Given the description of an element on the screen output the (x, y) to click on. 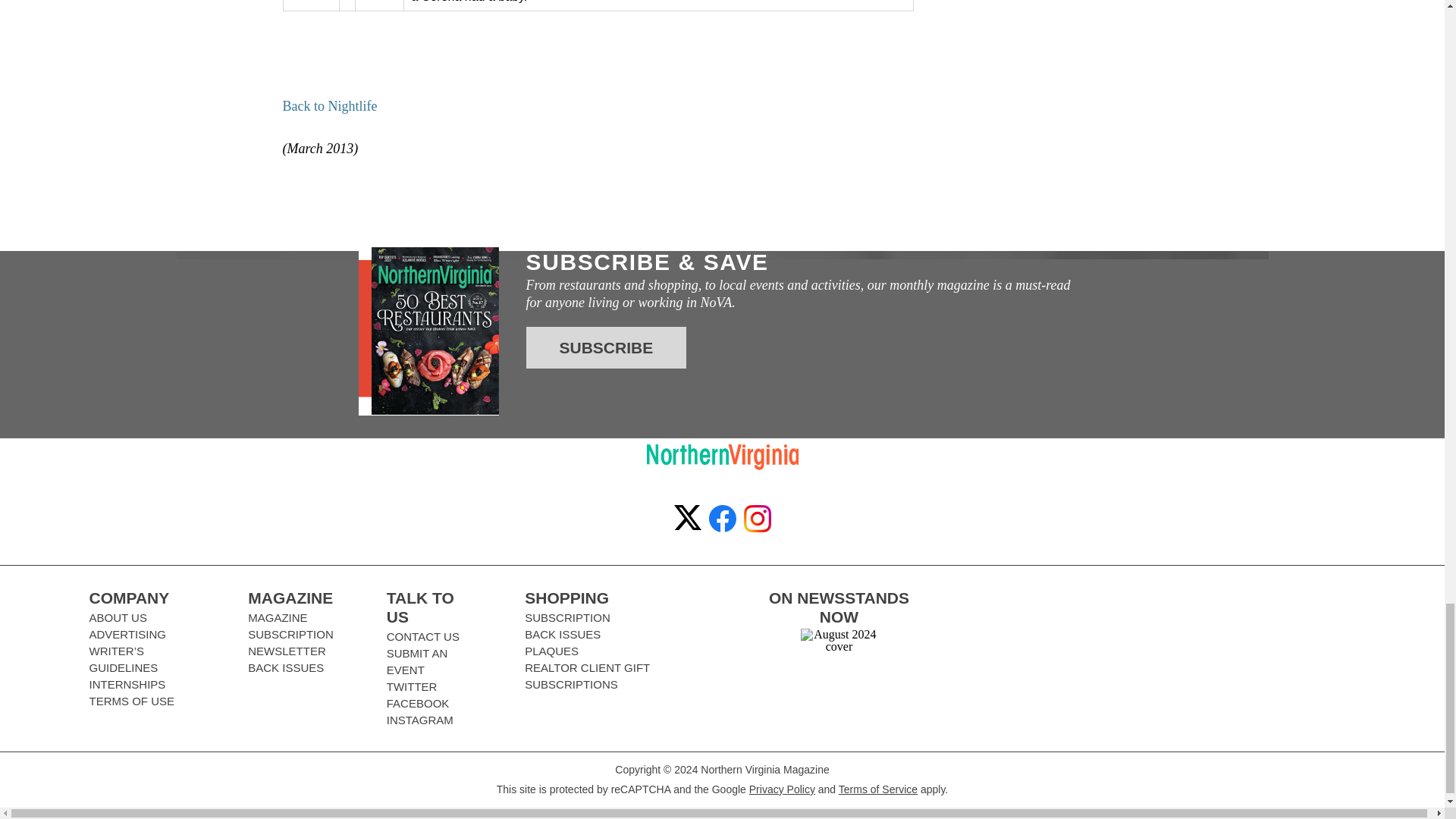
SUBSCRIBE (606, 347)
Back to Nightlife (329, 105)
